Given the description of an element on the screen output the (x, y) to click on. 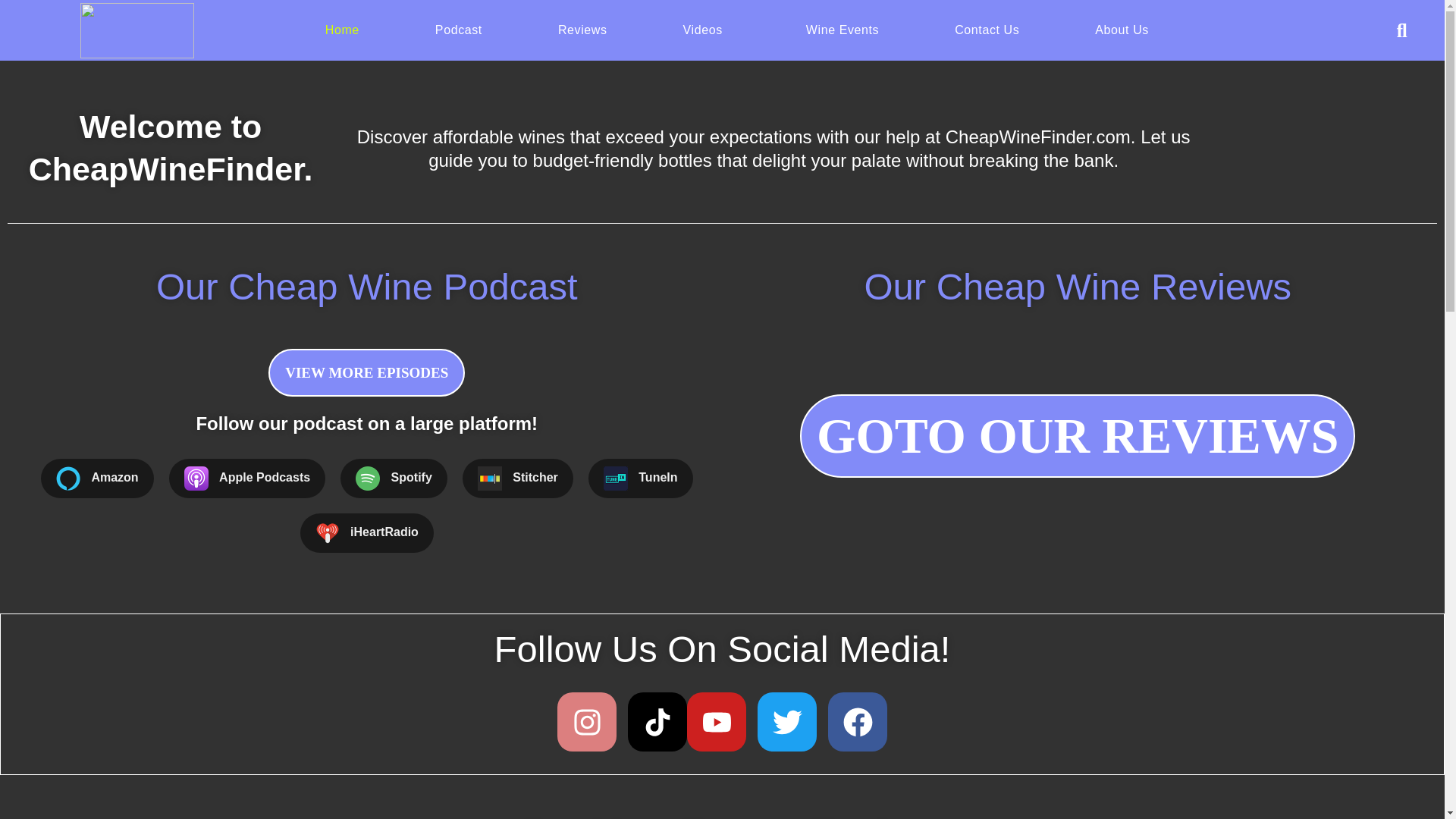
GOTO OUR REVIEWS (1077, 435)
Spotify (393, 477)
Amazon (97, 477)
Contact Us (987, 30)
Videos (706, 30)
Stitcher (518, 477)
Reviews (582, 30)
VIEW MORE EPISODES (365, 372)
Podcast (458, 30)
TuneIn (640, 477)
About Us (1121, 30)
Wine Events (842, 30)
iHeartRadio (366, 532)
Apple Podcasts (246, 477)
Home (341, 30)
